Given the description of an element on the screen output the (x, y) to click on. 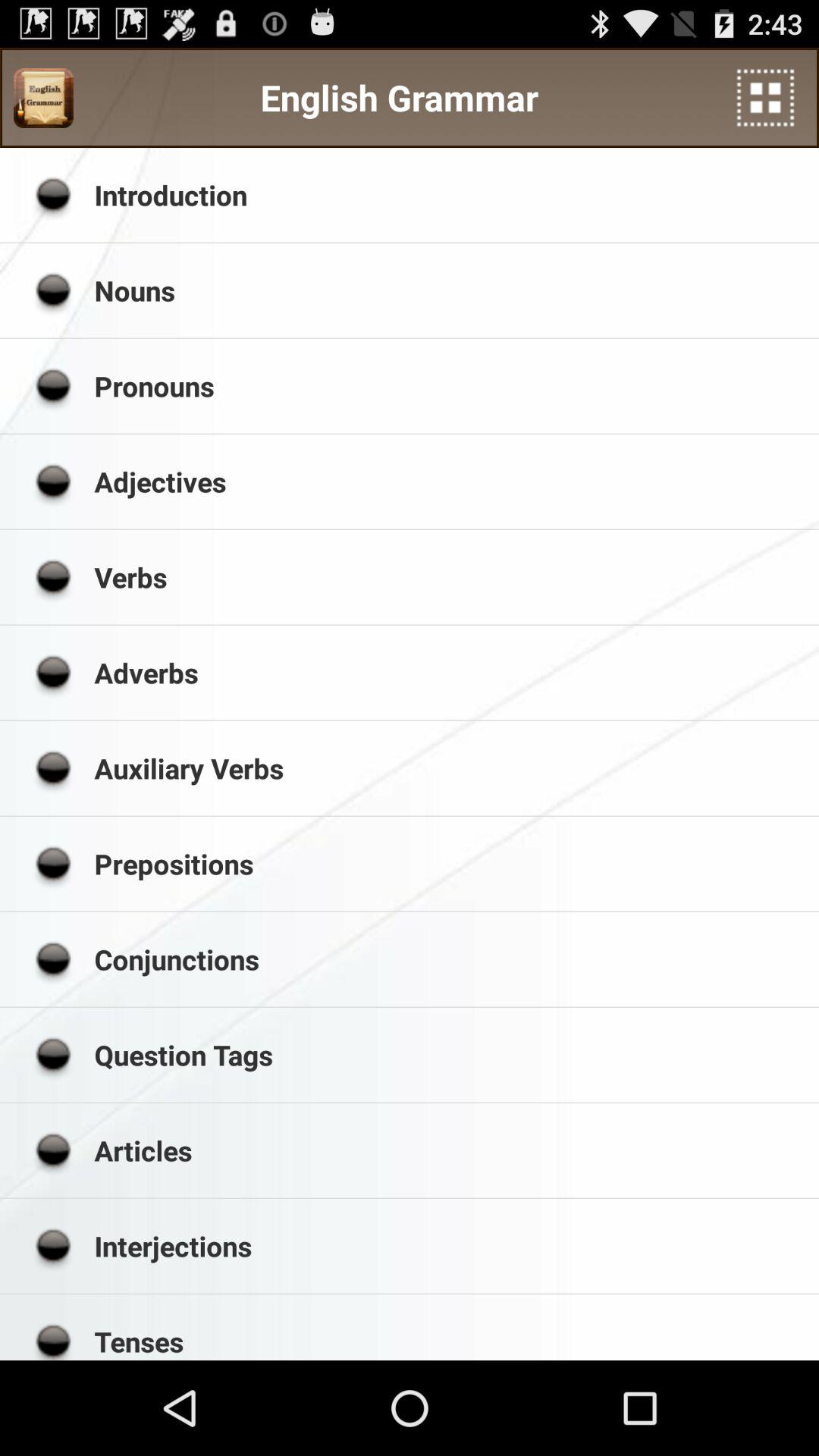
turn on icon above the tenses icon (451, 1245)
